Given the description of an element on the screen output the (x, y) to click on. 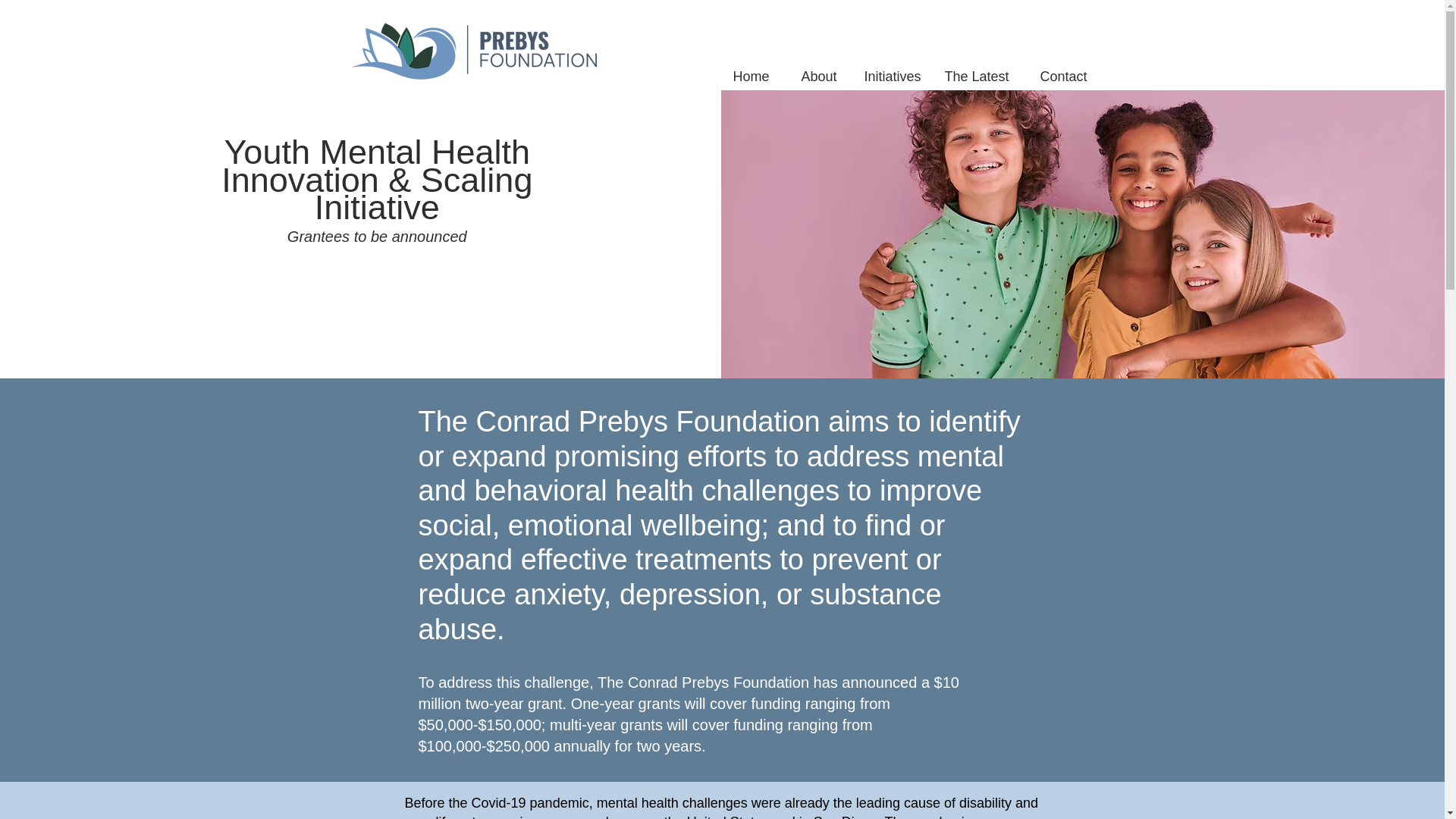
Home (741, 69)
Initiatives (885, 69)
Contact (1055, 69)
About (810, 69)
